Given the description of an element on the screen output the (x, y) to click on. 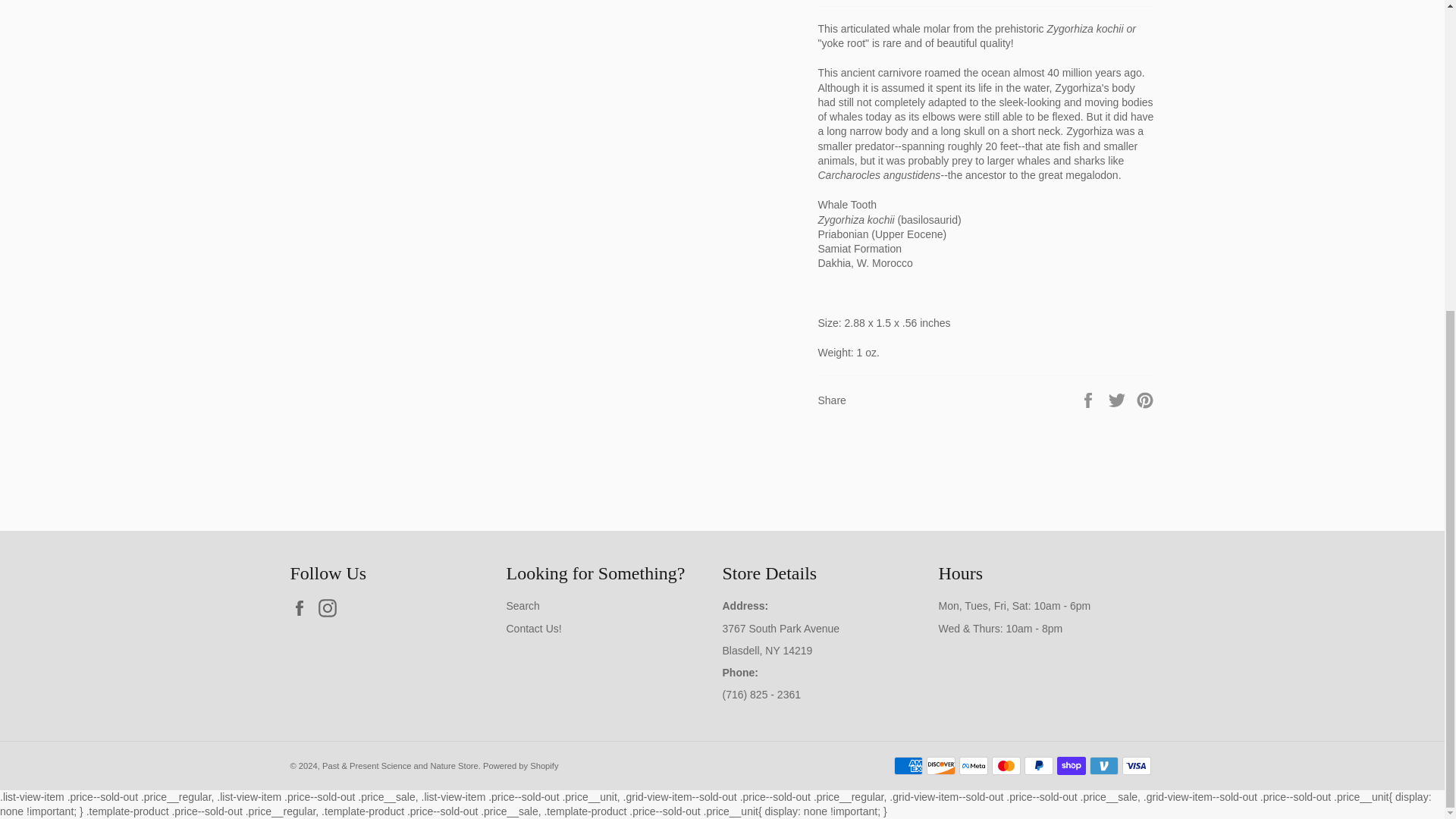
Share on Facebook (1089, 399)
Pin on Pinterest (1144, 399)
Tweet on Twitter (1118, 399)
